Given the description of an element on the screen output the (x, y) to click on. 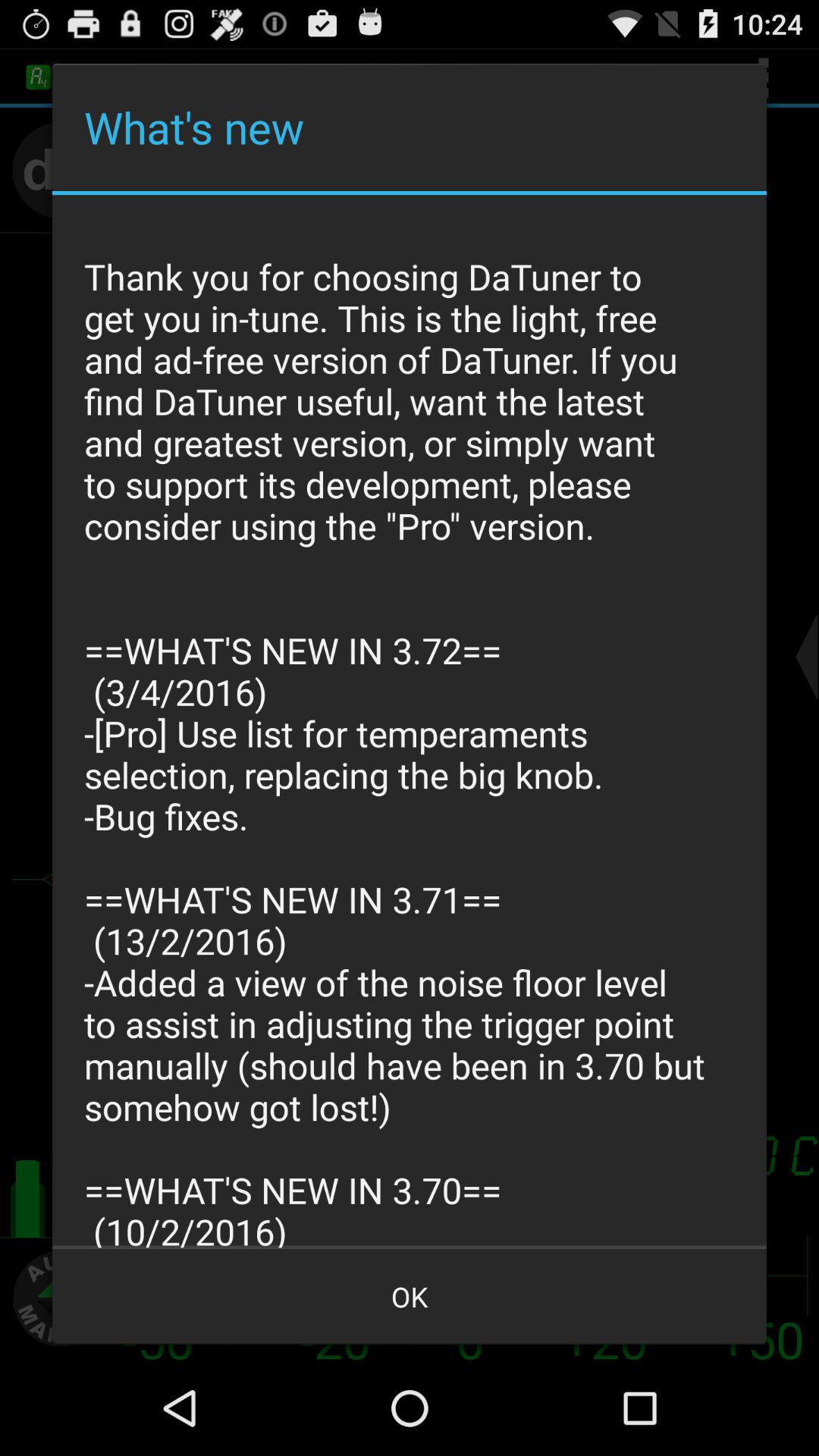
launch ok (409, 1296)
